Given the description of an element on the screen output the (x, y) to click on. 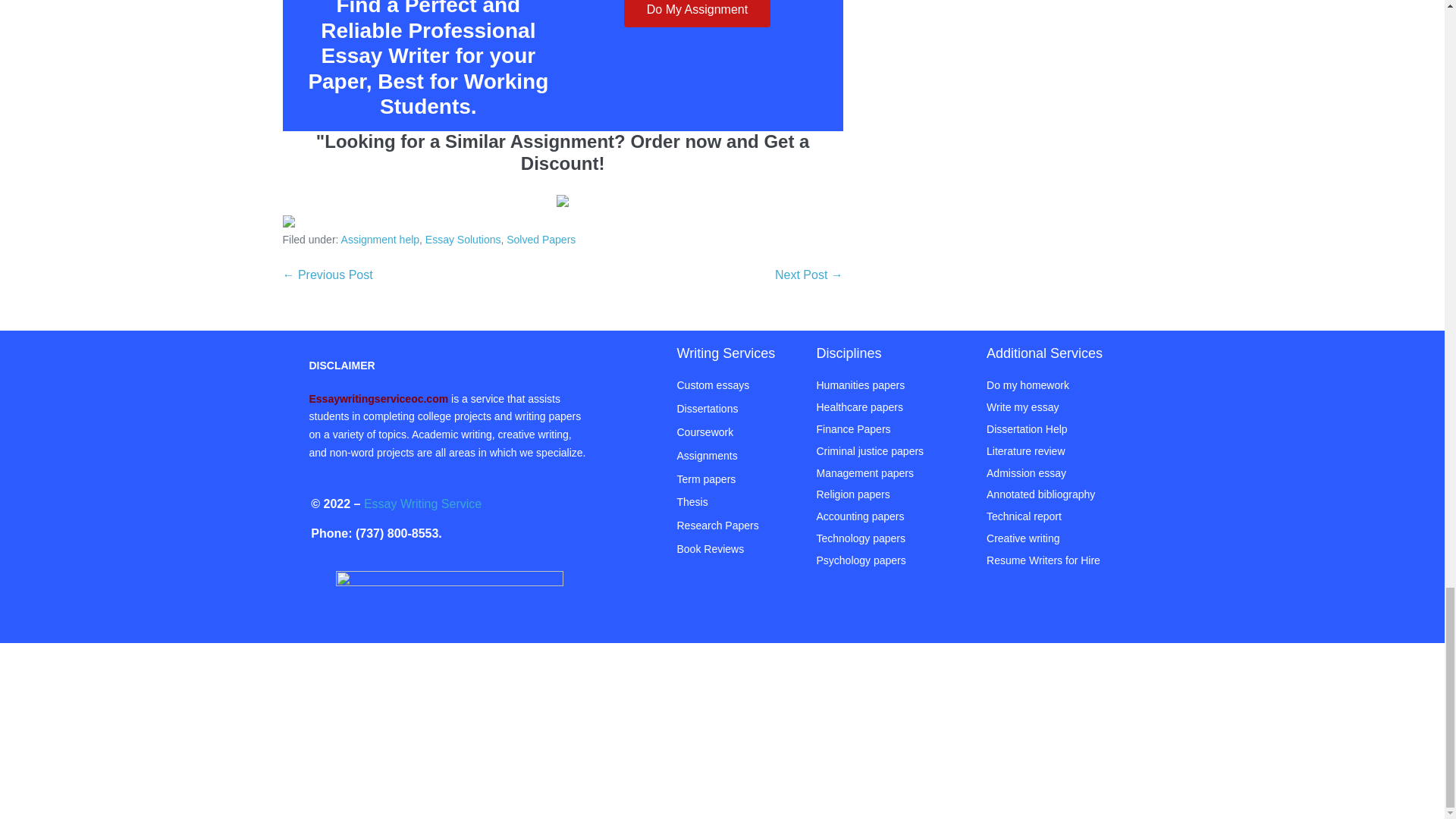
Assignment help (380, 239)
Essay Solutions (462, 239)
Do My Assignment (697, 13)
Solved Papers (540, 239)
